Given the description of an element on the screen output the (x, y) to click on. 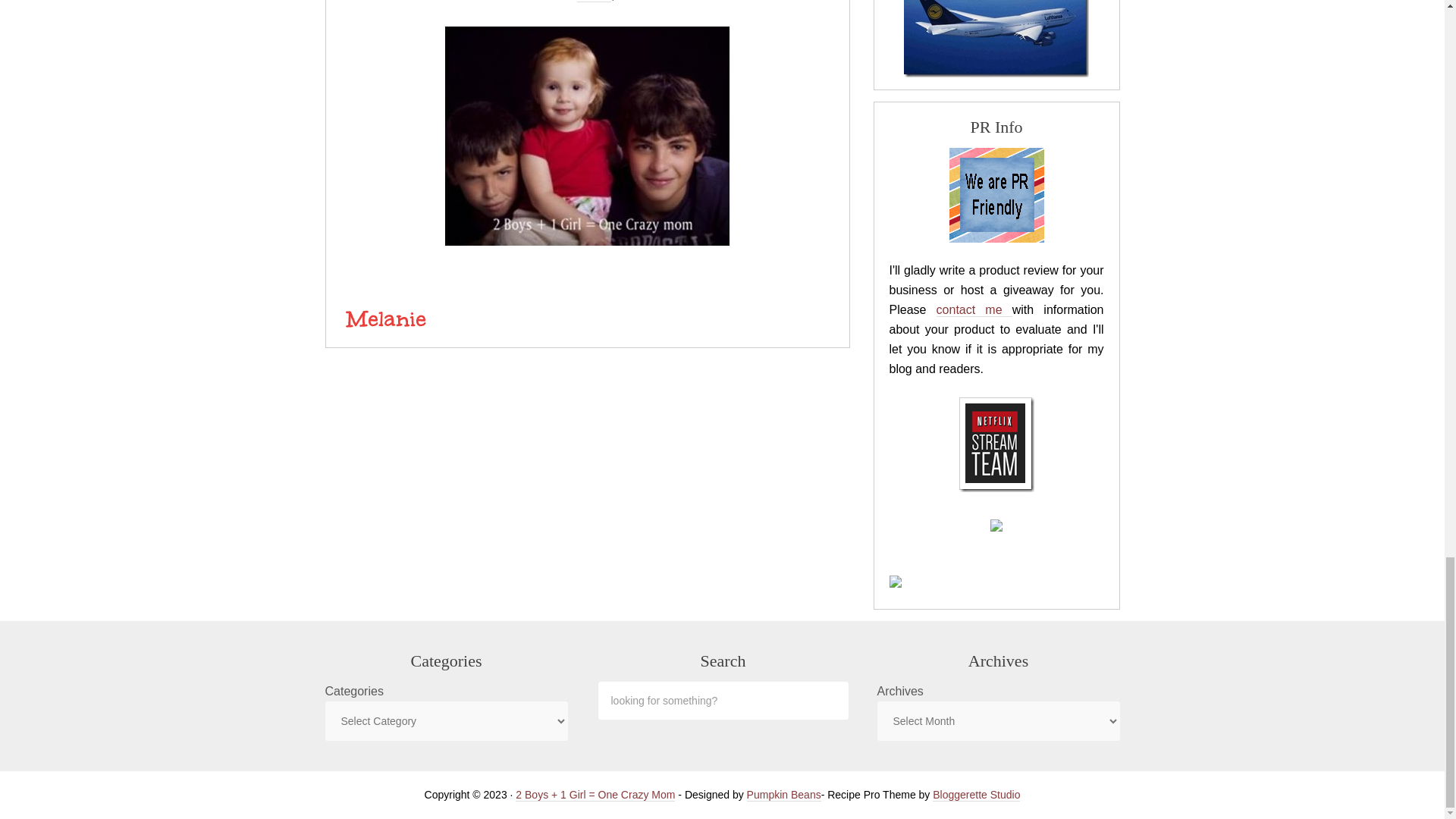
PR Summer copy (996, 195)
lufthansa-plane-copy (996, 38)
